Given the description of an element on the screen output the (x, y) to click on. 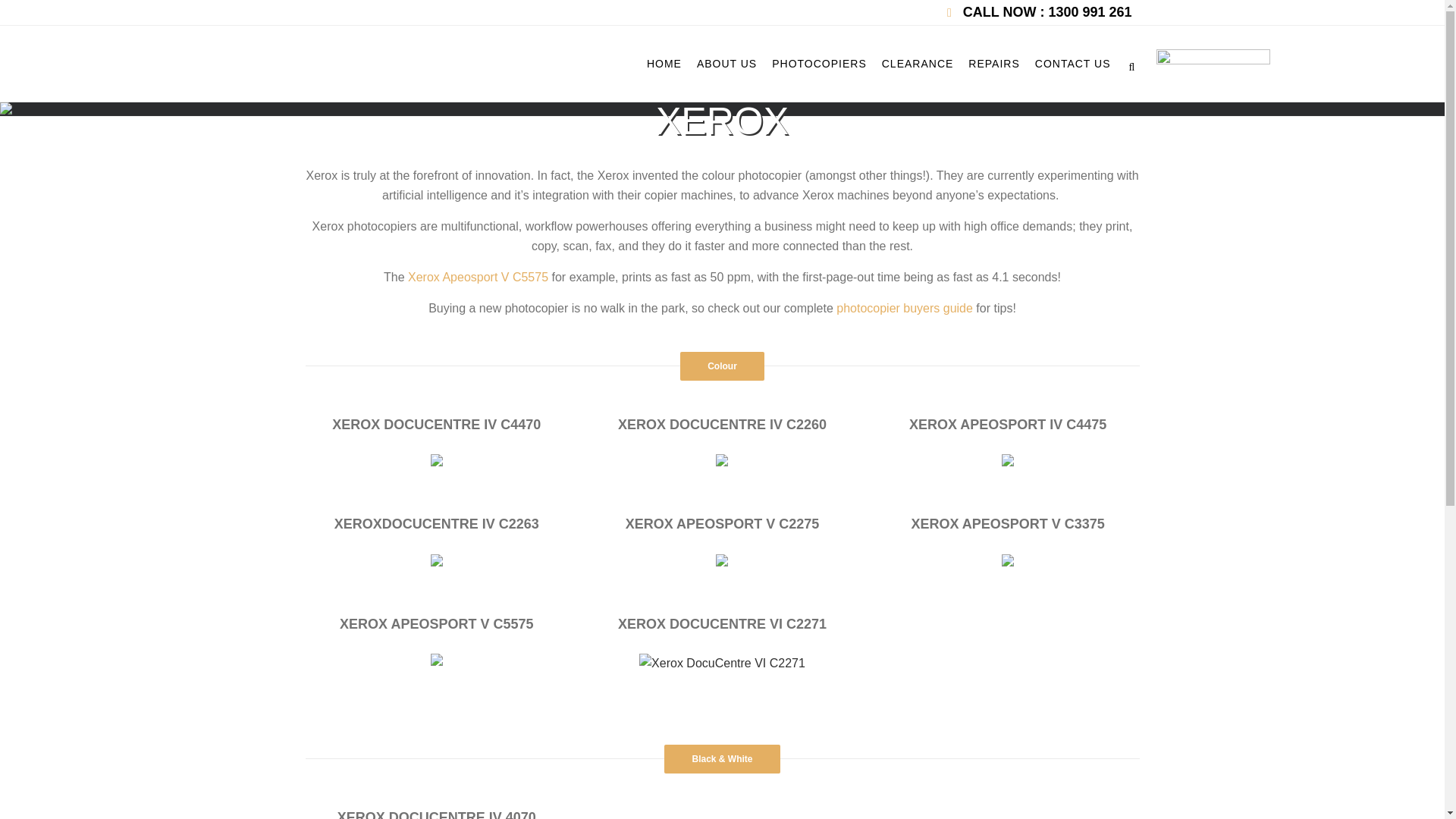
CALL NOW : 1300 991 261 (1045, 11)
ABOUT US (726, 63)
PHOTOCOPIERS (819, 63)
